Given the description of an element on the screen output the (x, y) to click on. 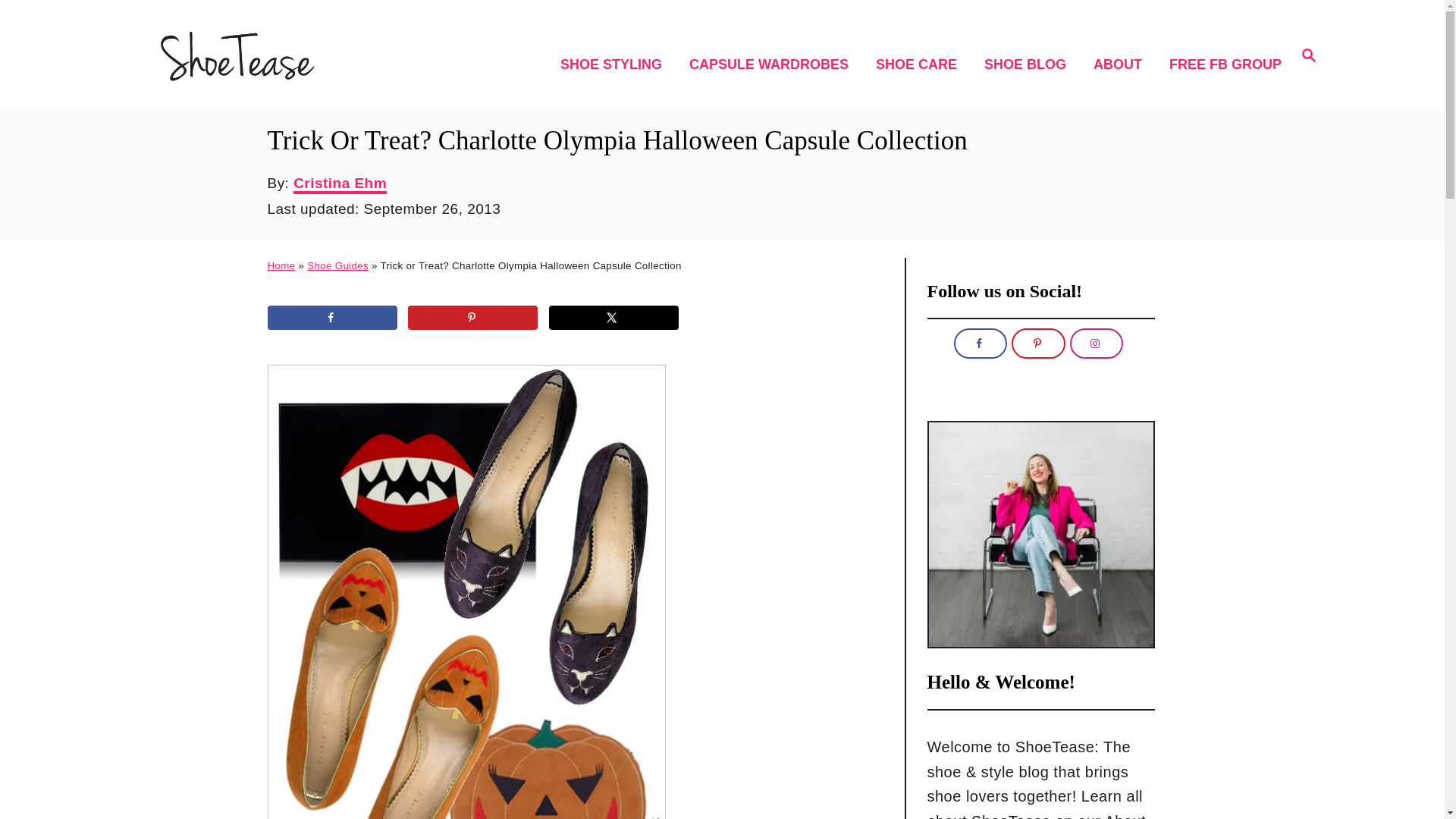
SHOE CARE (920, 64)
ABOUT (1308, 55)
SHOE STYLING (1122, 64)
Share on X (615, 64)
CAPSULE WARDROBES (613, 317)
Magnifying Glass (772, 64)
Shoe Blog Roll (1308, 54)
Home (1029, 64)
FREE FB GROUP (280, 265)
